Given the description of an element on the screen output the (x, y) to click on. 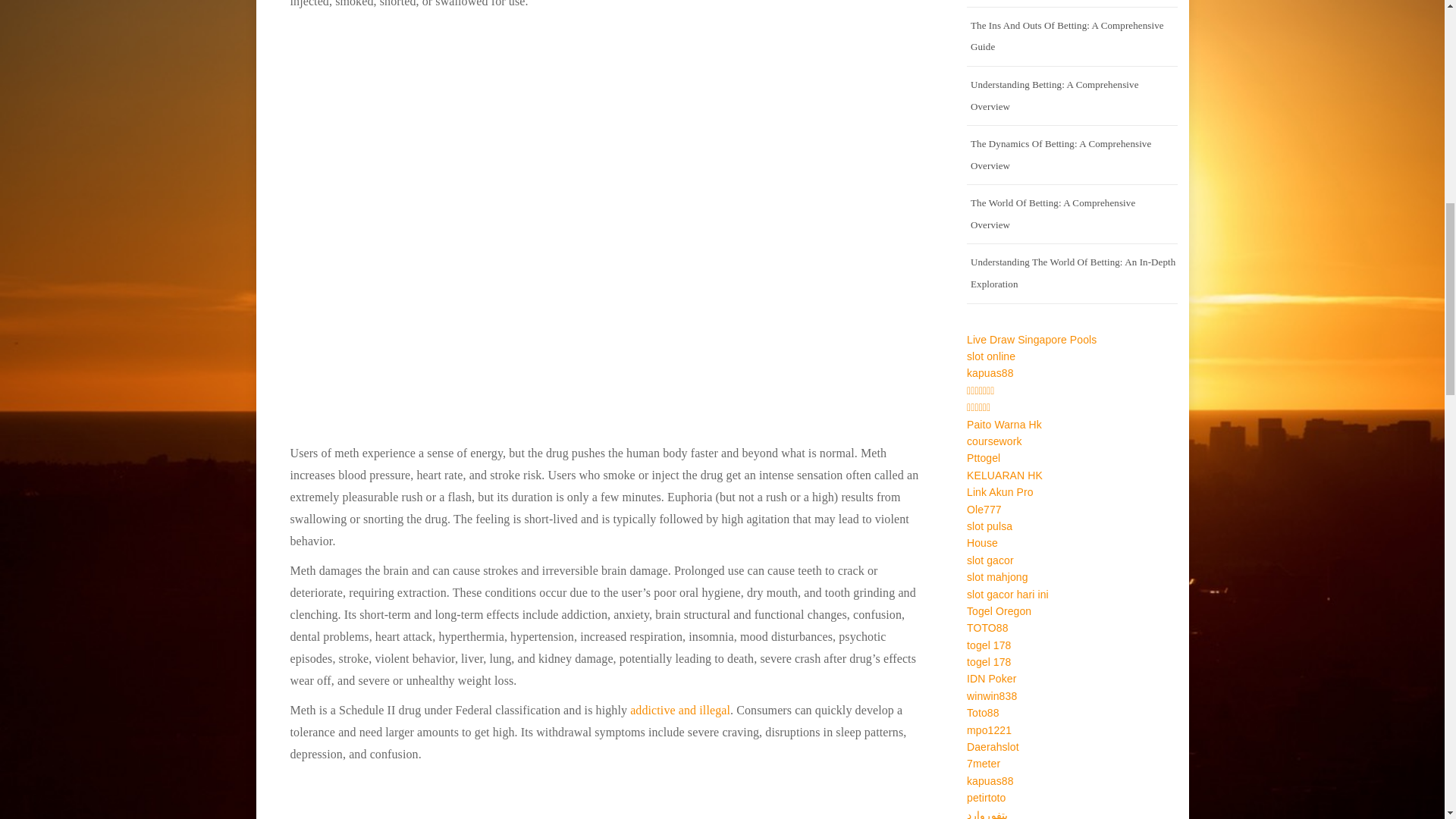
Advertisement (605, 796)
addictive and illegal (680, 709)
